Given the description of an element on the screen output the (x, y) to click on. 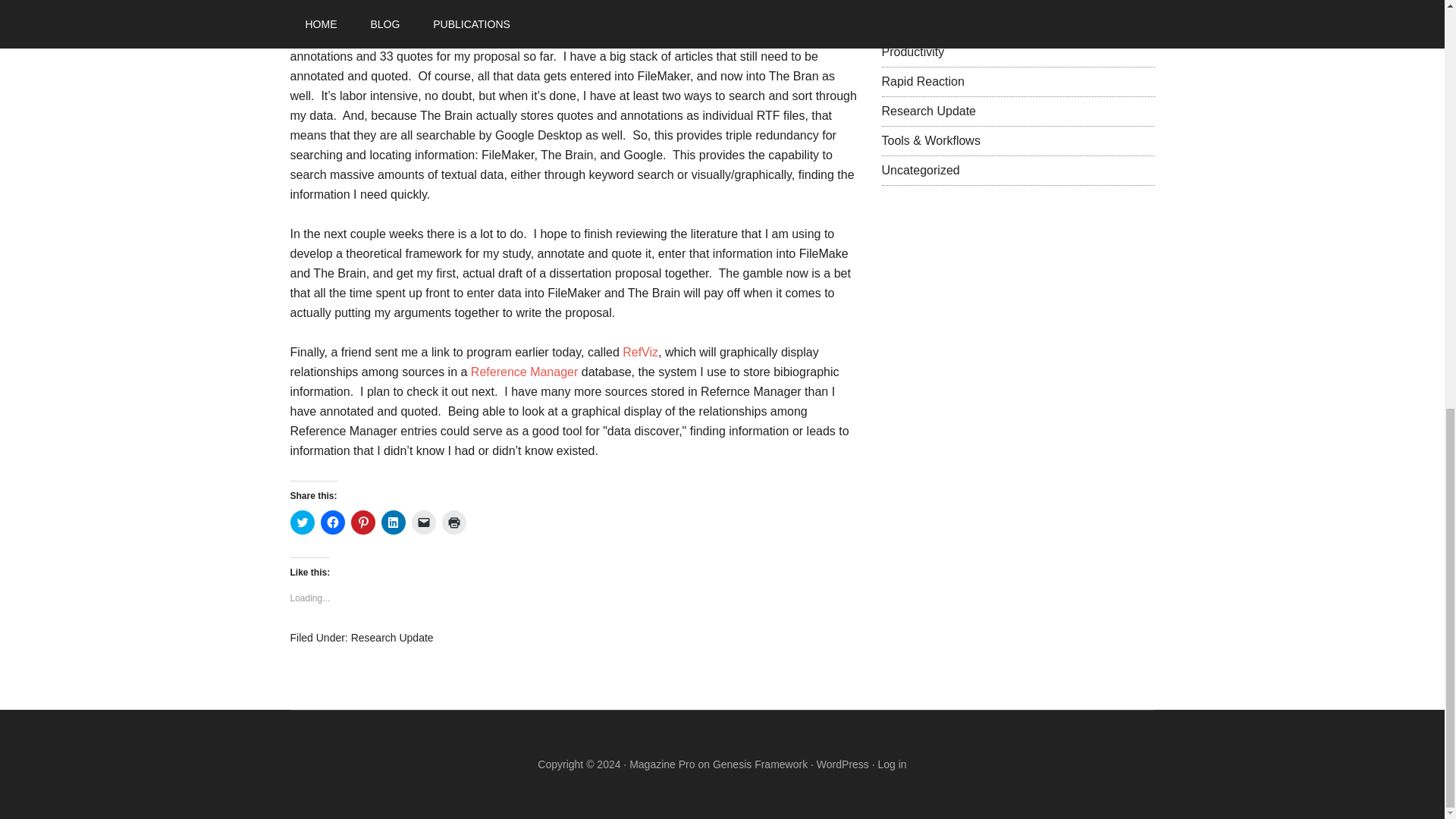
Research Update (927, 110)
Click to share on LinkedIn (392, 522)
Click to share on Pinterest (362, 522)
Productivity (911, 51)
Uncategorized (919, 169)
Reference Manager (524, 371)
Click to share on Facebook (331, 522)
Click to print (453, 522)
Predictions (910, 21)
Magazine Pro (661, 764)
Research Update (391, 637)
Click to email a link to a friend (422, 522)
Rapid Reaction (921, 81)
WordPress (842, 764)
RefViz (640, 351)
